Given the description of an element on the screen output the (x, y) to click on. 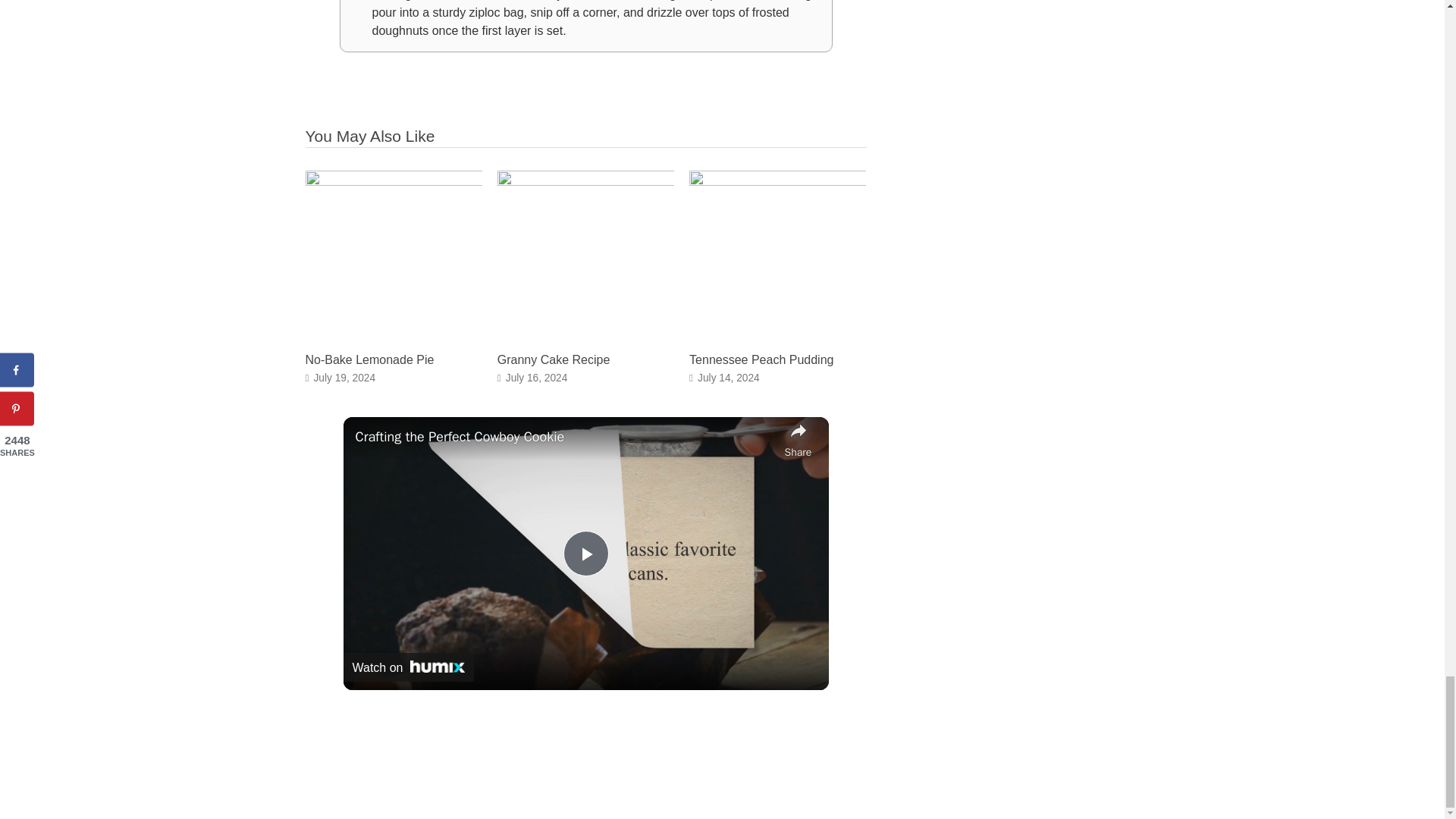
Tennessee Peach Pudding (760, 359)
Play Video (585, 553)
Granny Cake Recipe (553, 359)
Tennessee Peach Pudding (777, 181)
No-Bake Lemonade Pie (368, 359)
Granny Cake Recipe (585, 181)
No-Bake Lemonade Pie (392, 181)
